Given the description of an element on the screen output the (x, y) to click on. 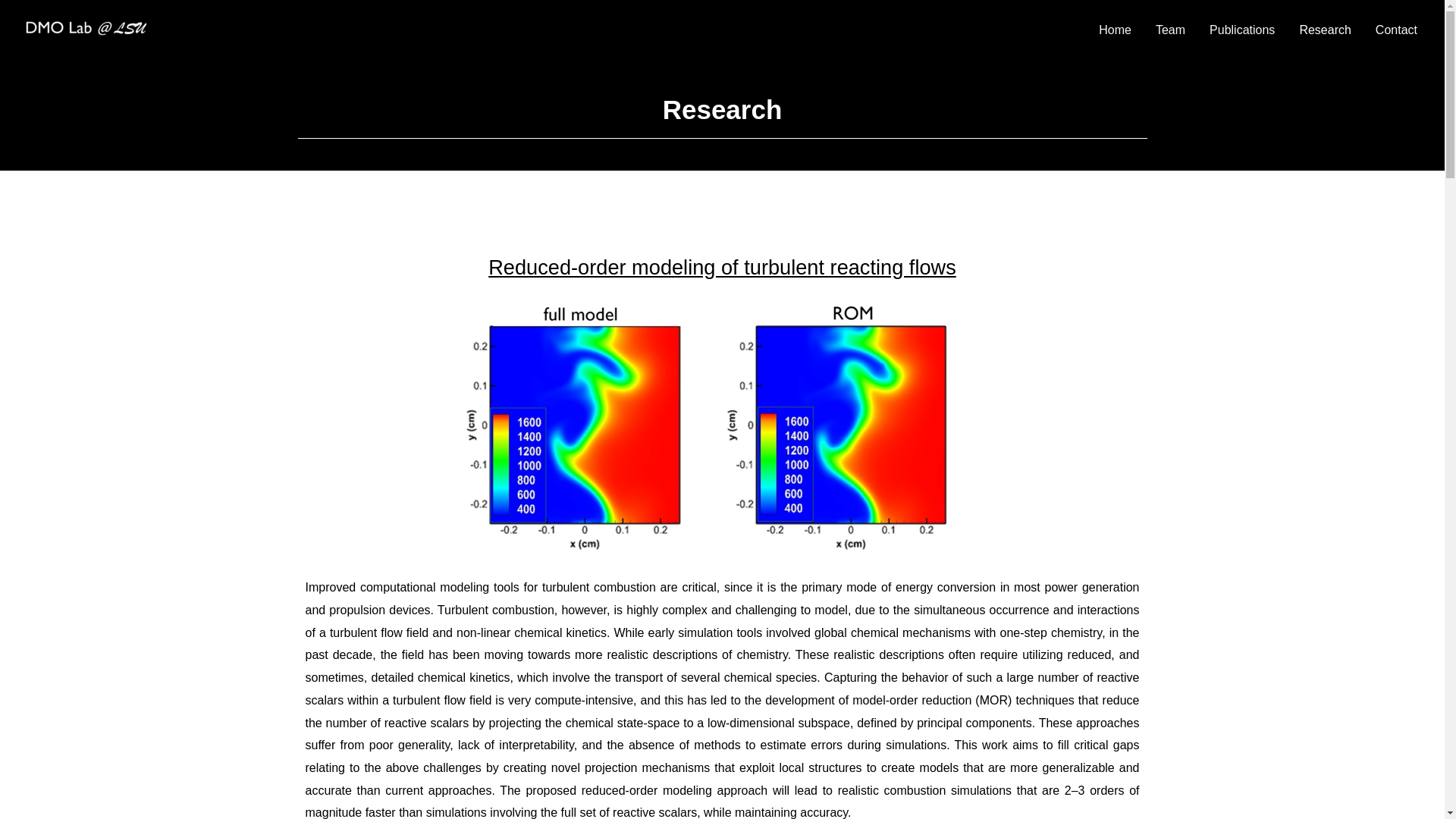
Contact (1395, 30)
Team (1169, 30)
Research (1324, 30)
Publications (1241, 30)
Home (1114, 30)
